Given the description of an element on the screen output the (x, y) to click on. 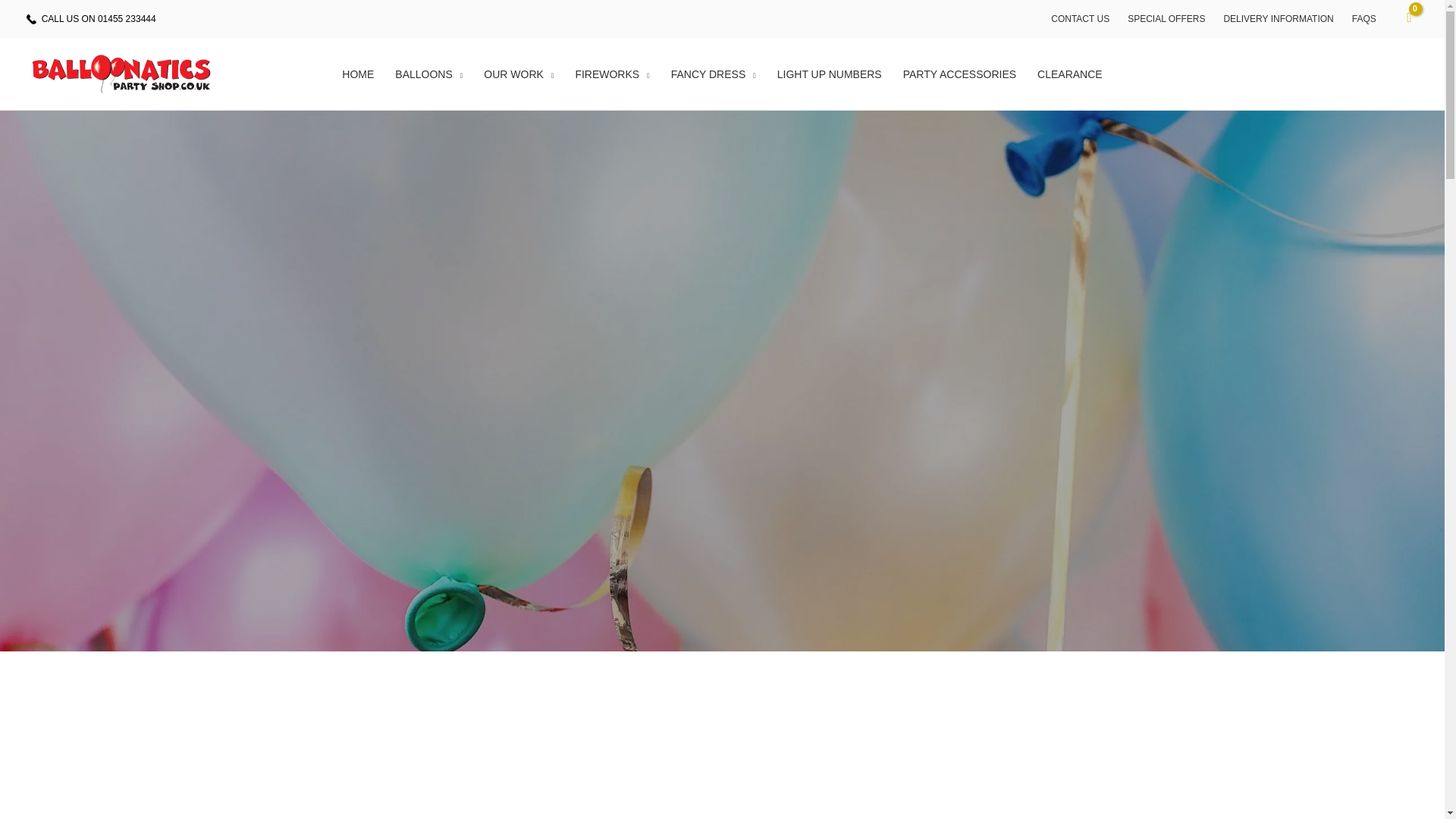
FAQS (1364, 18)
SPECIAL OFFERS (1166, 18)
CALL US ON 01455 233444 (98, 18)
DELIVERY INFORMATION (1278, 18)
CONTACT US (1080, 18)
OUR WORK (518, 74)
FIREWORKS (611, 74)
BALLOONS (428, 74)
